Given the description of an element on the screen output the (x, y) to click on. 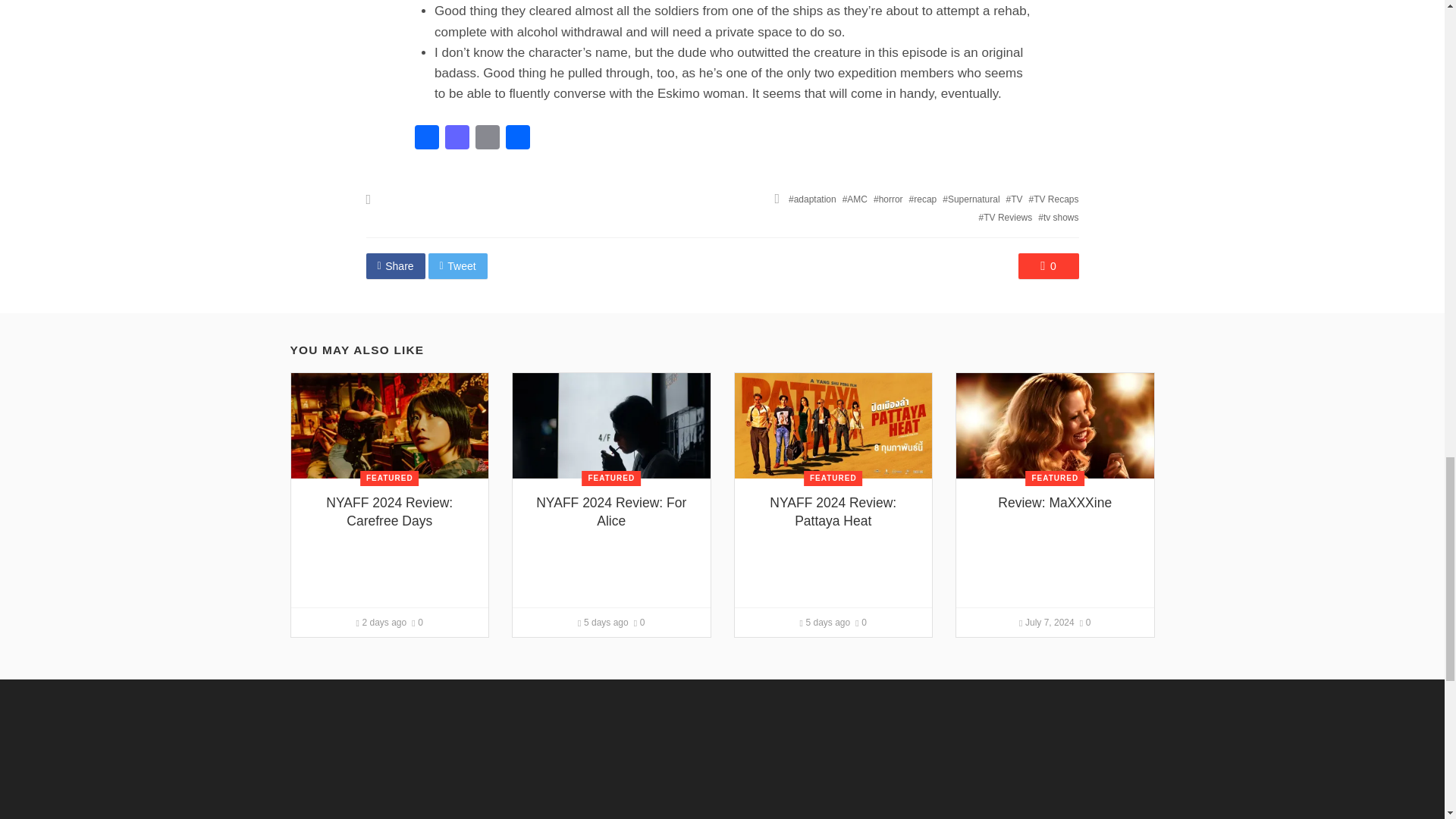
horror (887, 199)
AMC (855, 199)
TV (1014, 199)
TV Reviews (1005, 217)
Share (395, 266)
Tweet (457, 266)
tv shows (1058, 217)
Email (486, 139)
Supernatural (970, 199)
Facebook (425, 139)
Share (517, 139)
July 16, 2024 at 12:00 pm (381, 622)
adaptation (812, 199)
TV Recaps (1053, 199)
Email (486, 139)
